Given the description of an element on the screen output the (x, y) to click on. 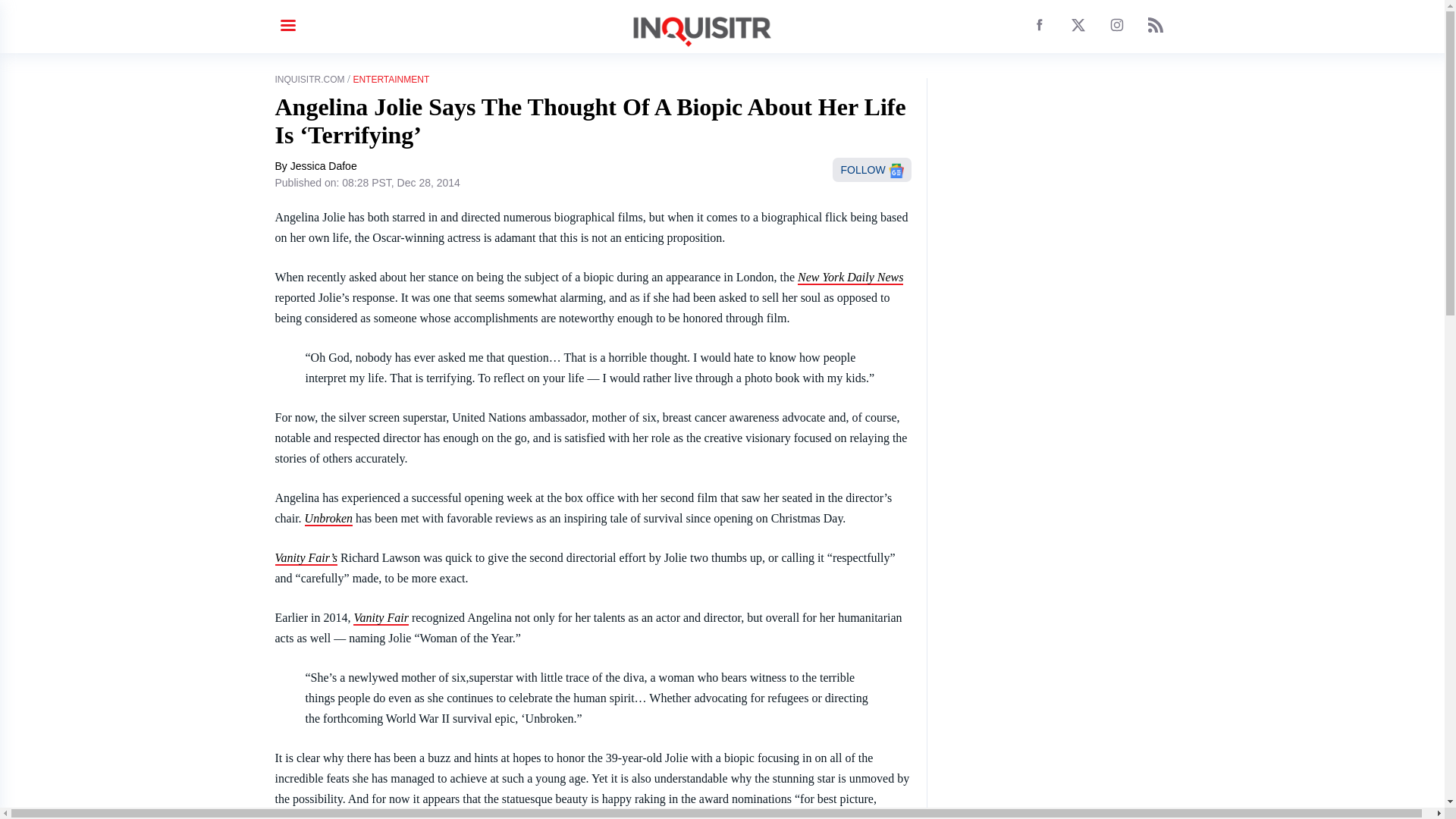
ENTERTAINMENT (390, 79)
Vanity Fair (306, 558)
New York Daily News (849, 278)
INQUISITR.COM (309, 79)
Unbroken (328, 518)
Vanity Fair (380, 617)
